Given the description of an element on the screen output the (x, y) to click on. 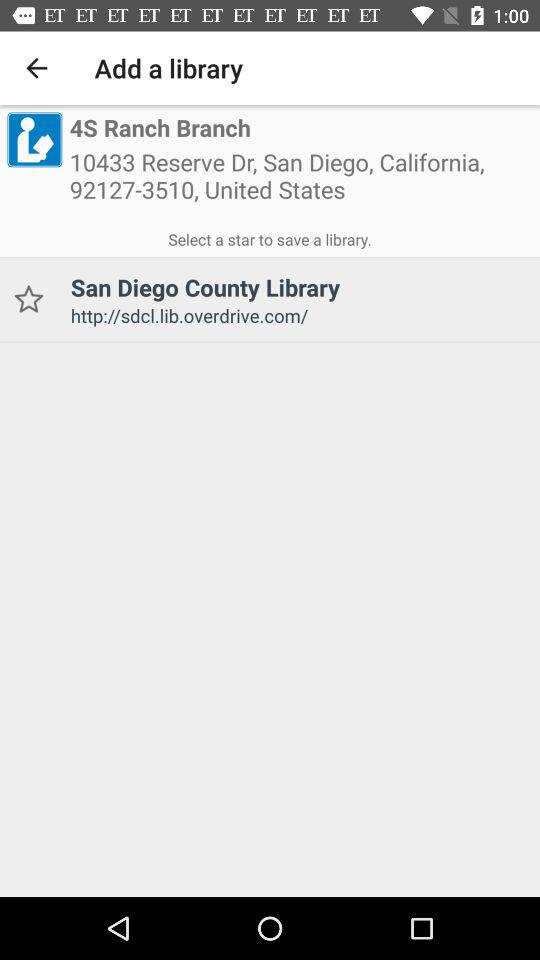
open item next to 4s ranch branch icon (34, 139)
